Given the description of an element on the screen output the (x, y) to click on. 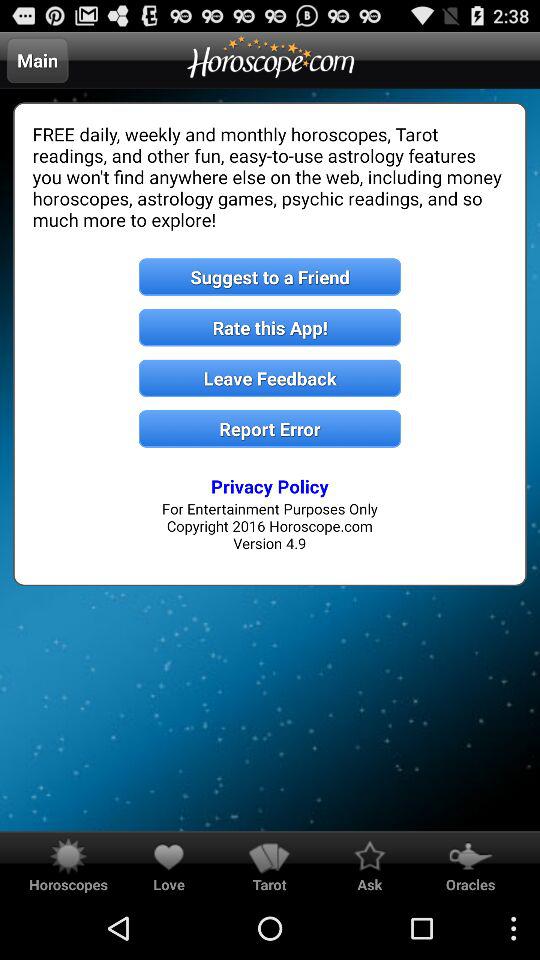
flip until leave feedback (269, 378)
